Given the description of an element on the screen output the (x, y) to click on. 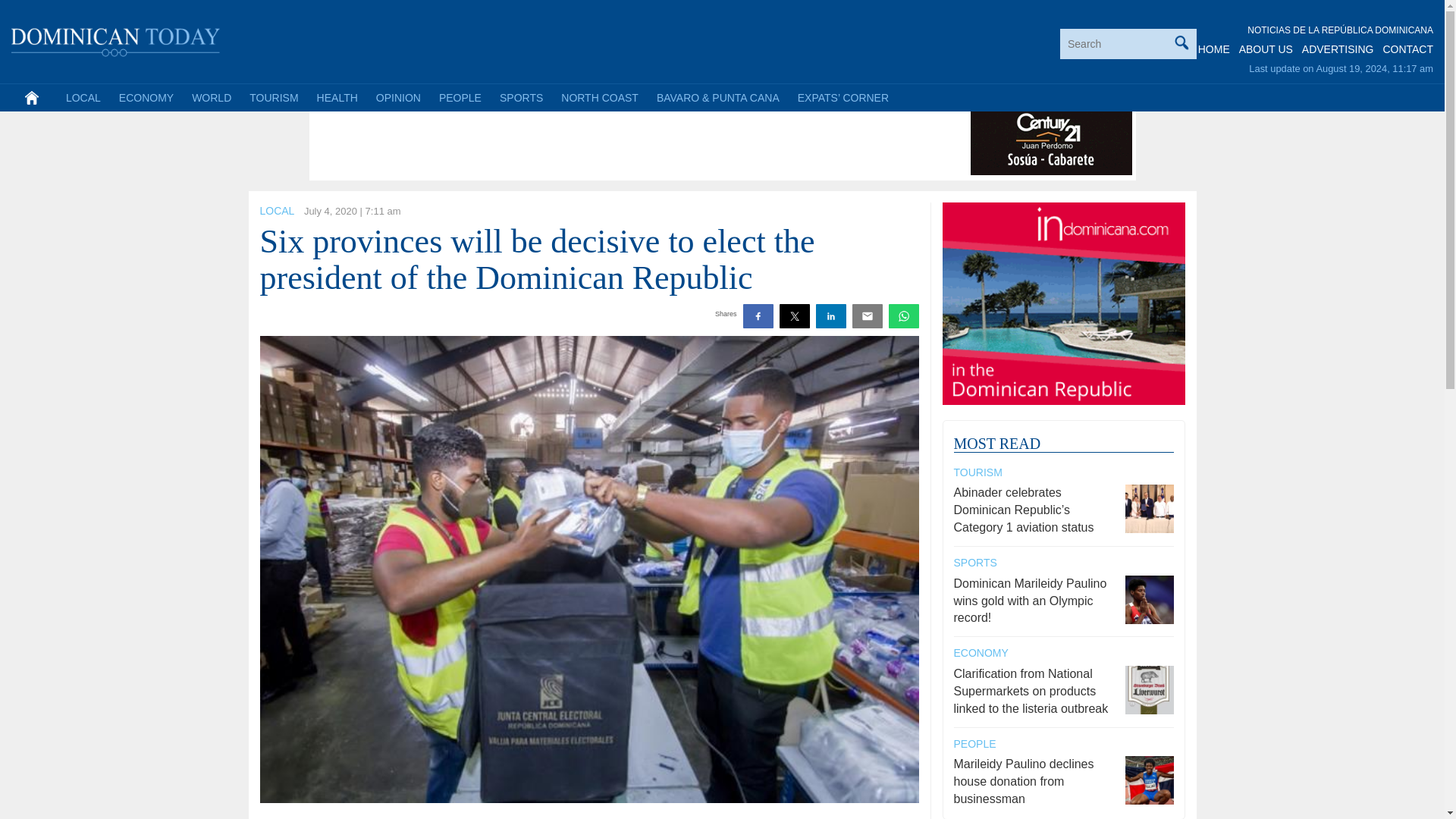
Advertisement (589, 141)
LOCAL (83, 97)
WORLD (211, 97)
LOCAL (276, 210)
NORTH COAST (599, 97)
ADVERTISING (1337, 49)
TOURISM (978, 471)
Dominican Today News - Santo Domingo and Dominican Republic (116, 38)
PEOPLE (459, 97)
